Given the description of an element on the screen output the (x, y) to click on. 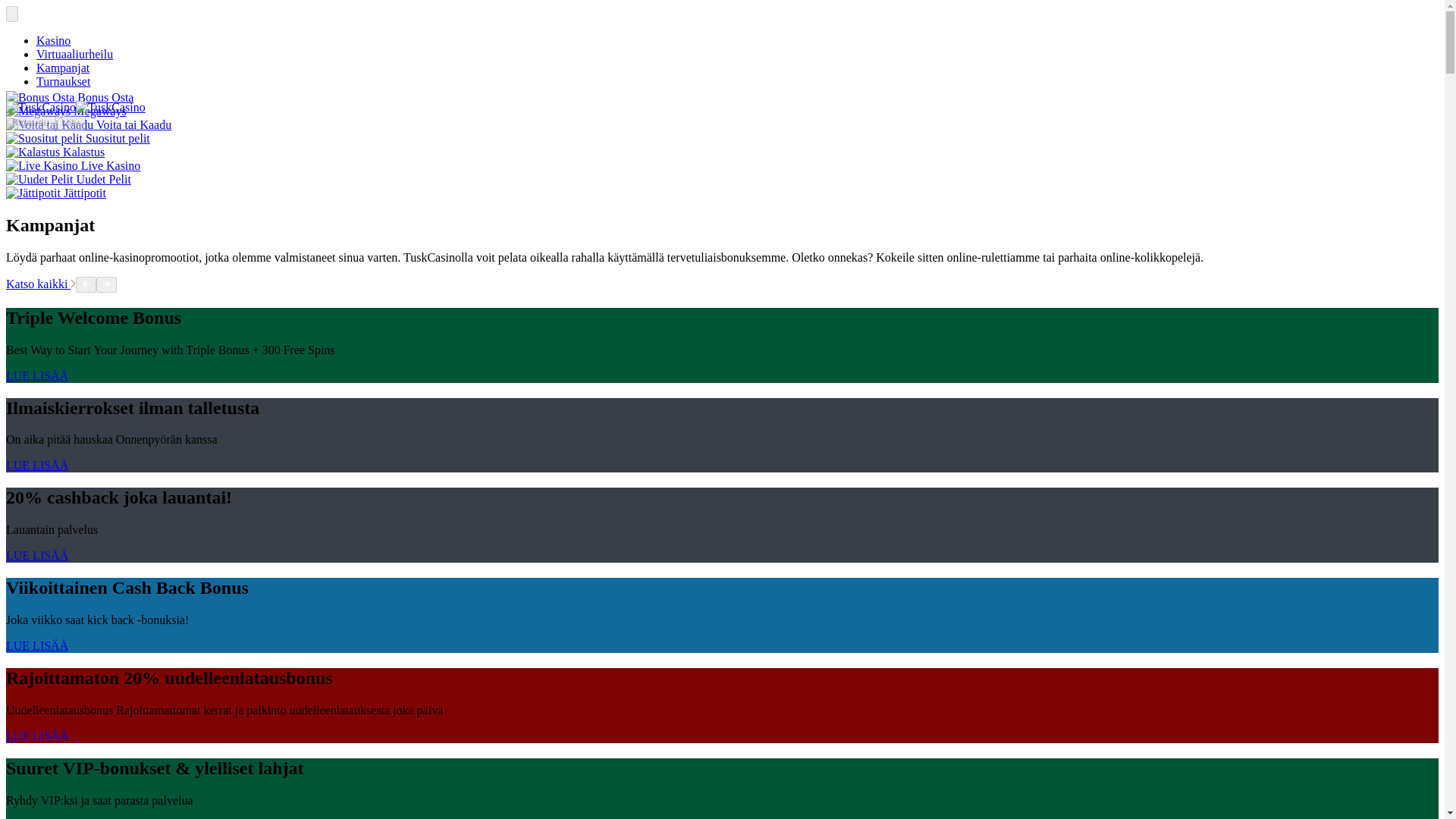
Virtuaaliurheilu (74, 53)
Kampanjat (62, 67)
Kalastus (54, 151)
Bonus Osta (69, 97)
Uudet Pelit (68, 178)
Turnaukset (63, 81)
Katso kaikki (40, 283)
Megaways (65, 110)
Kirjaudu (30, 122)
Suositut pelit (77, 137)
Kasino (52, 40)
Live Kasino (72, 164)
Liity (70, 122)
Voita tai Kaadu (88, 124)
